Given the description of an element on the screen output the (x, y) to click on. 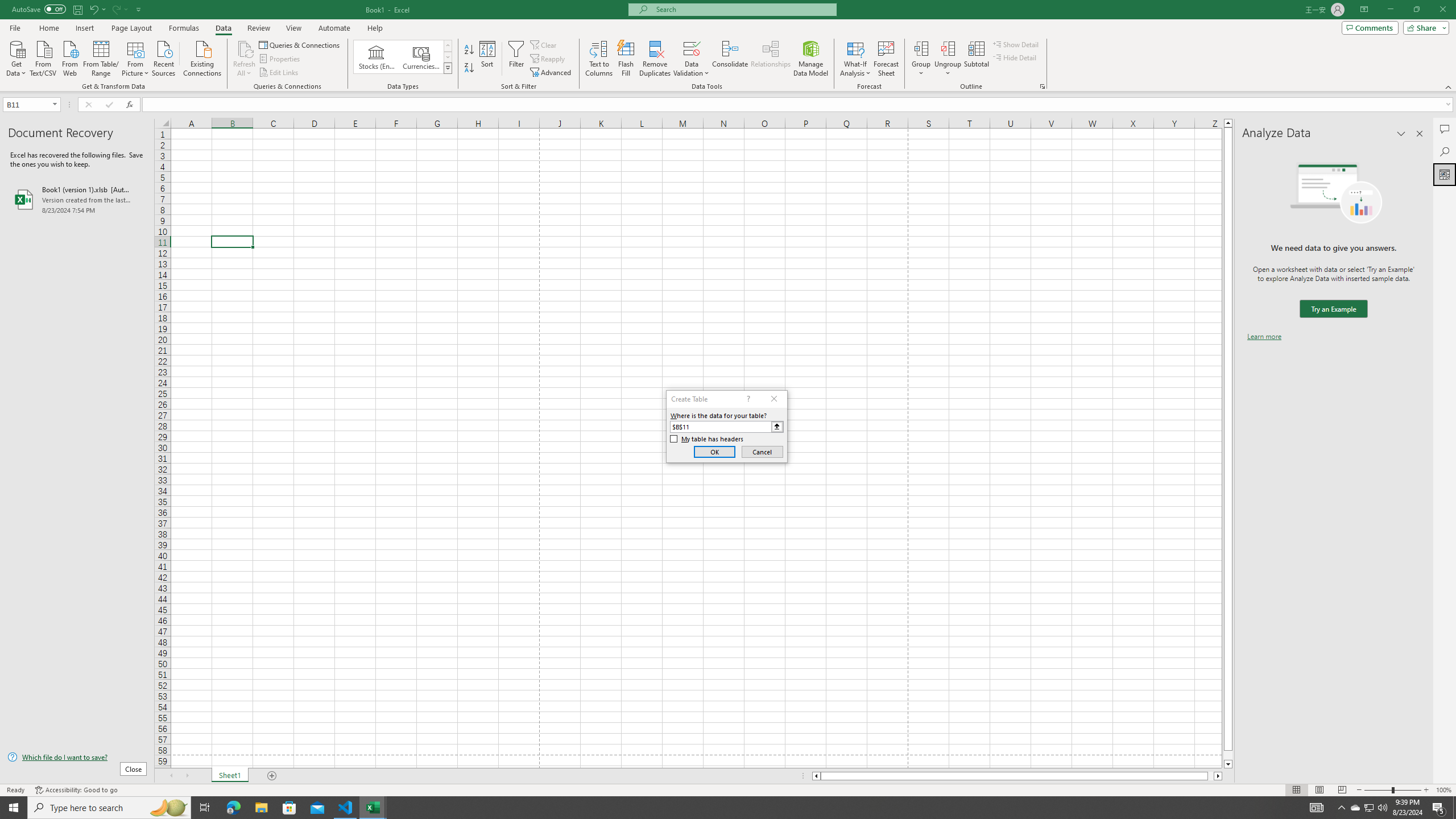
Text to Columns... (598, 58)
Analyze Data (1444, 173)
Filter (515, 58)
Sort... (487, 58)
Relationships (770, 58)
Queries & Connections (300, 44)
Learn more (1264, 336)
